Given the description of an element on the screen output the (x, y) to click on. 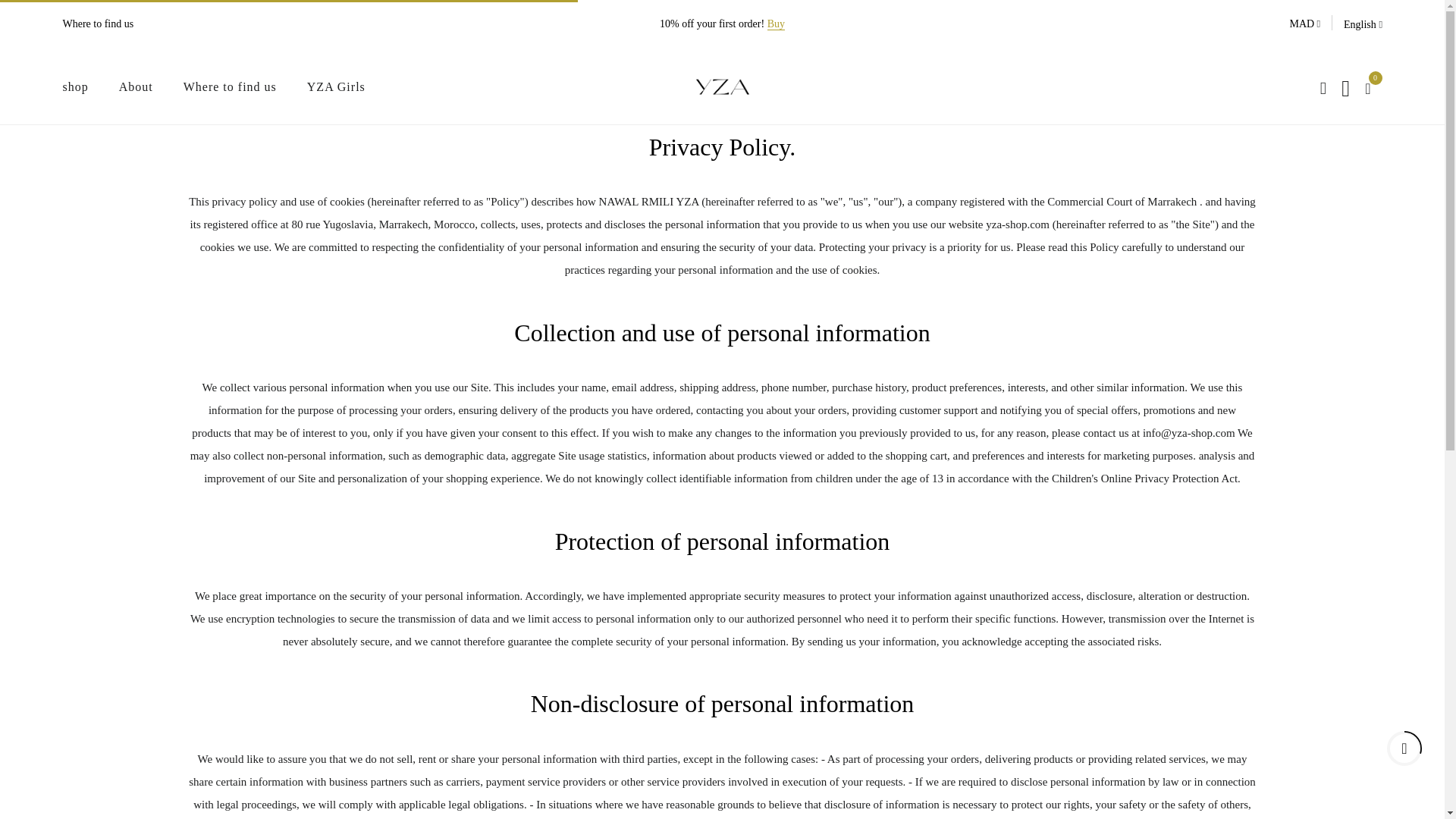
Buy (775, 24)
About (135, 86)
shop (74, 86)
Where to find us (229, 86)
YZA Girls (336, 86)
Where to find us (97, 24)
